Given the description of an element on the screen output the (x, y) to click on. 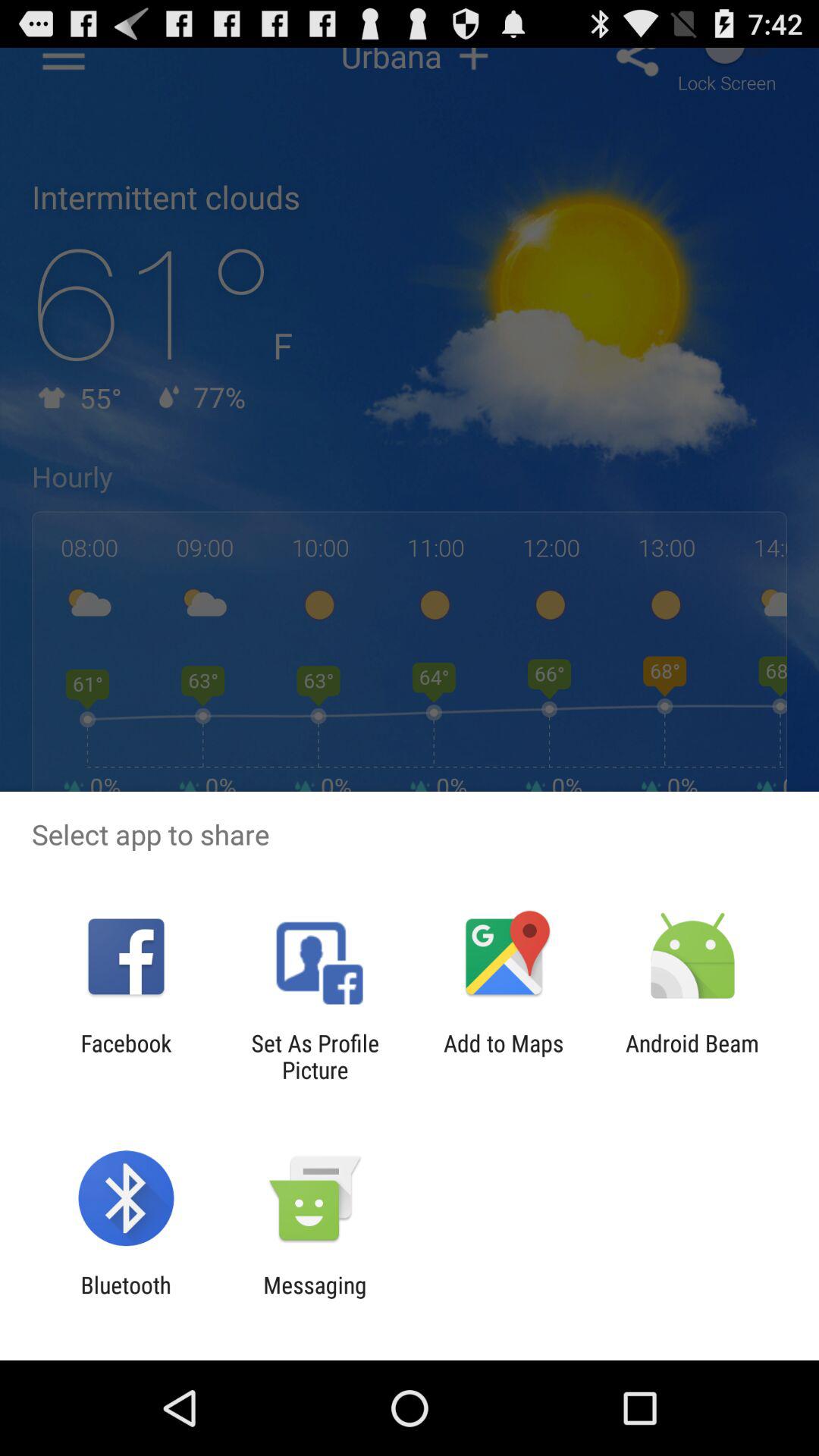
press the facebook (125, 1056)
